Given the description of an element on the screen output the (x, y) to click on. 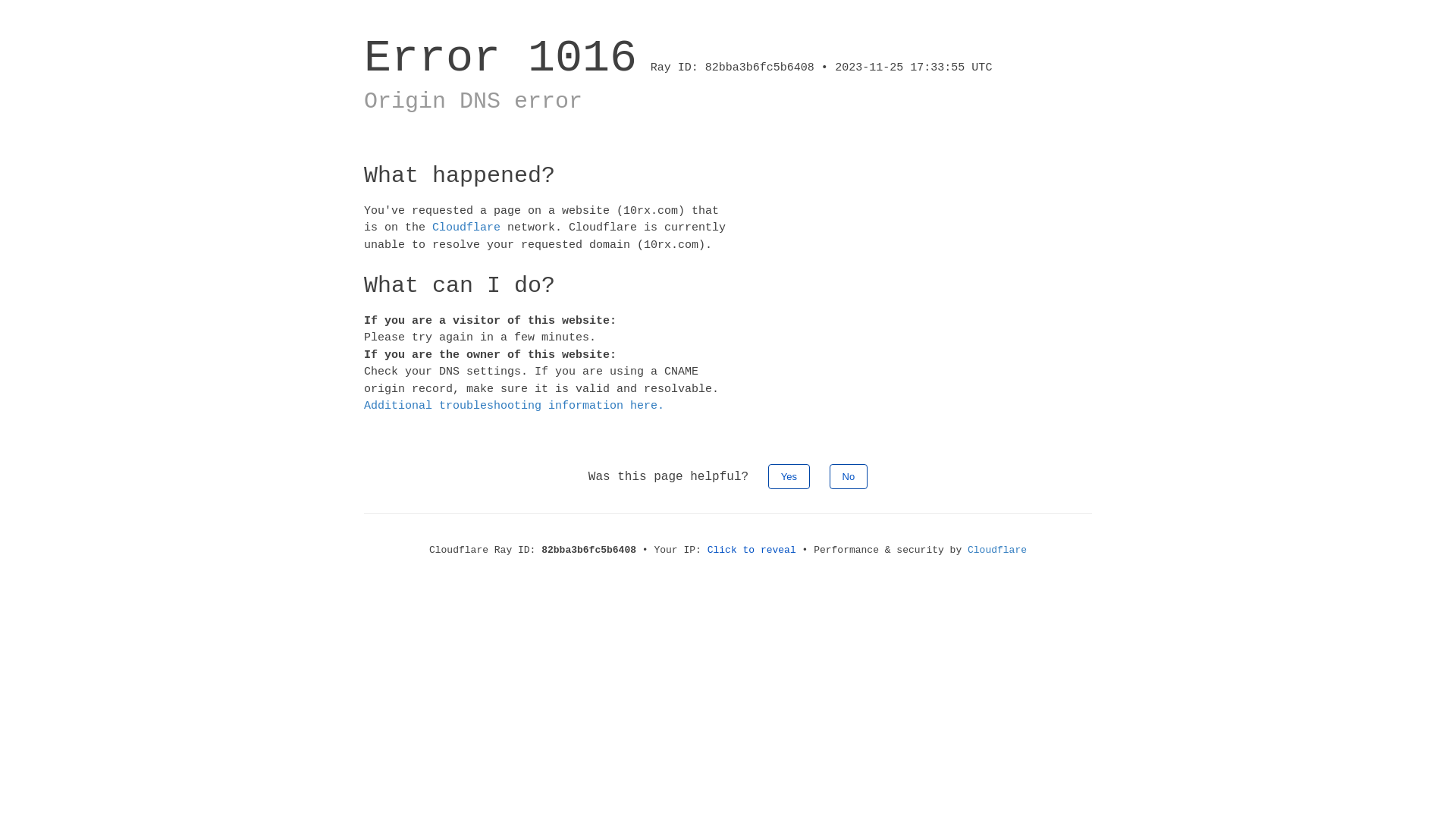
Cloudflare Element type: text (996, 549)
Cloudflare Element type: text (466, 227)
Additional troubleshooting information here. Element type: text (514, 405)
Click to reveal Element type: text (751, 549)
No Element type: text (848, 476)
Yes Element type: text (788, 476)
